Given the description of an element on the screen output the (x, y) to click on. 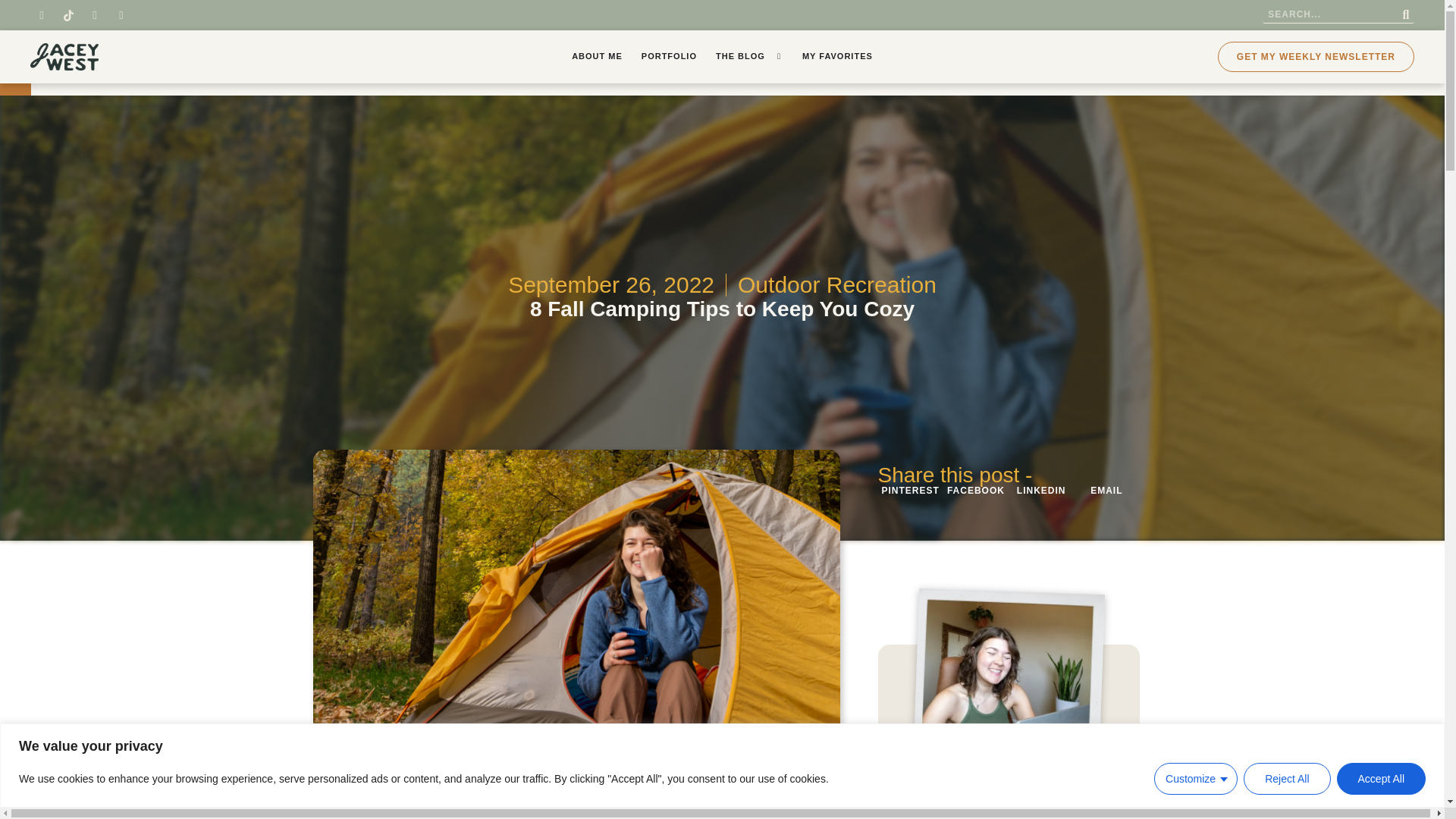
THE BLOG   (743, 56)
MY FAVORITES (837, 56)
Customize (1195, 778)
ABOUT ME (597, 56)
PORTFOLIO (669, 56)
Accept All (1380, 778)
Reject All (1286, 778)
